Given the description of an element on the screen output the (x, y) to click on. 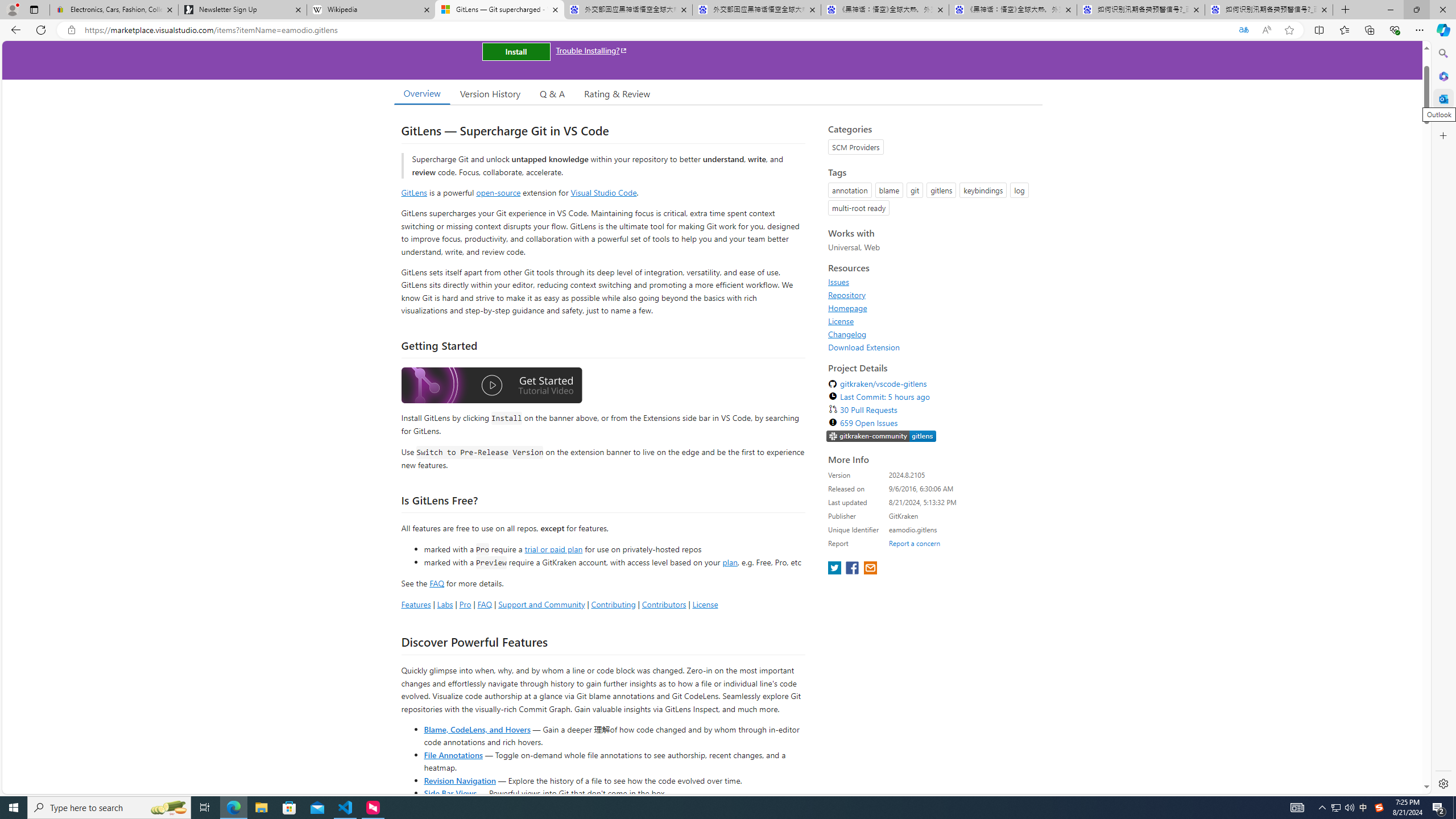
Contributors (663, 603)
Q & A (552, 92)
